Given the description of an element on the screen output the (x, y) to click on. 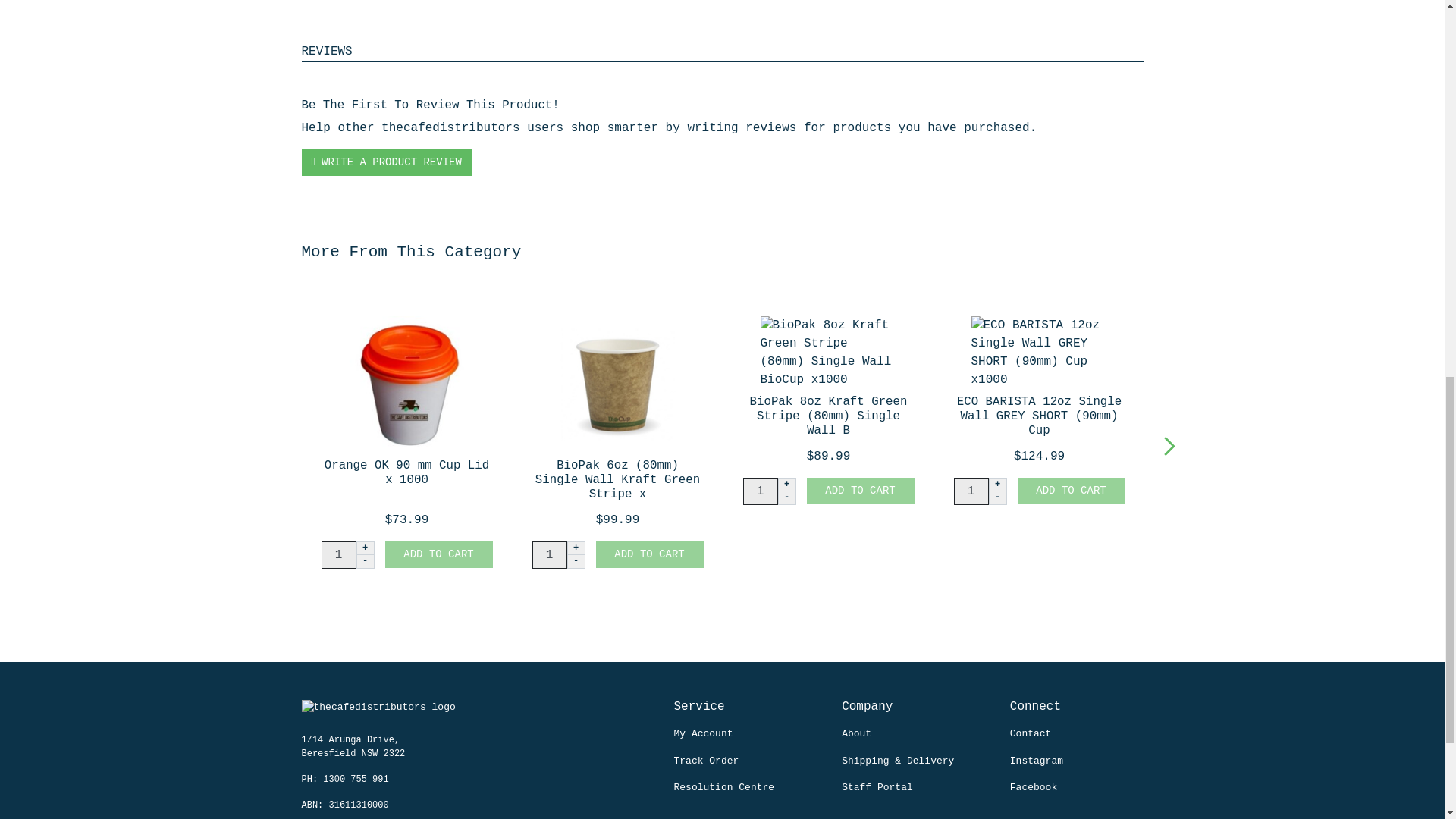
1 (970, 491)
Add Orange OK 90 mm Cup Lid x 1000 to Cart (439, 554)
1 (549, 554)
1 (338, 554)
1 (759, 491)
thecafedistributors (378, 716)
